Given the description of an element on the screen output the (x, y) to click on. 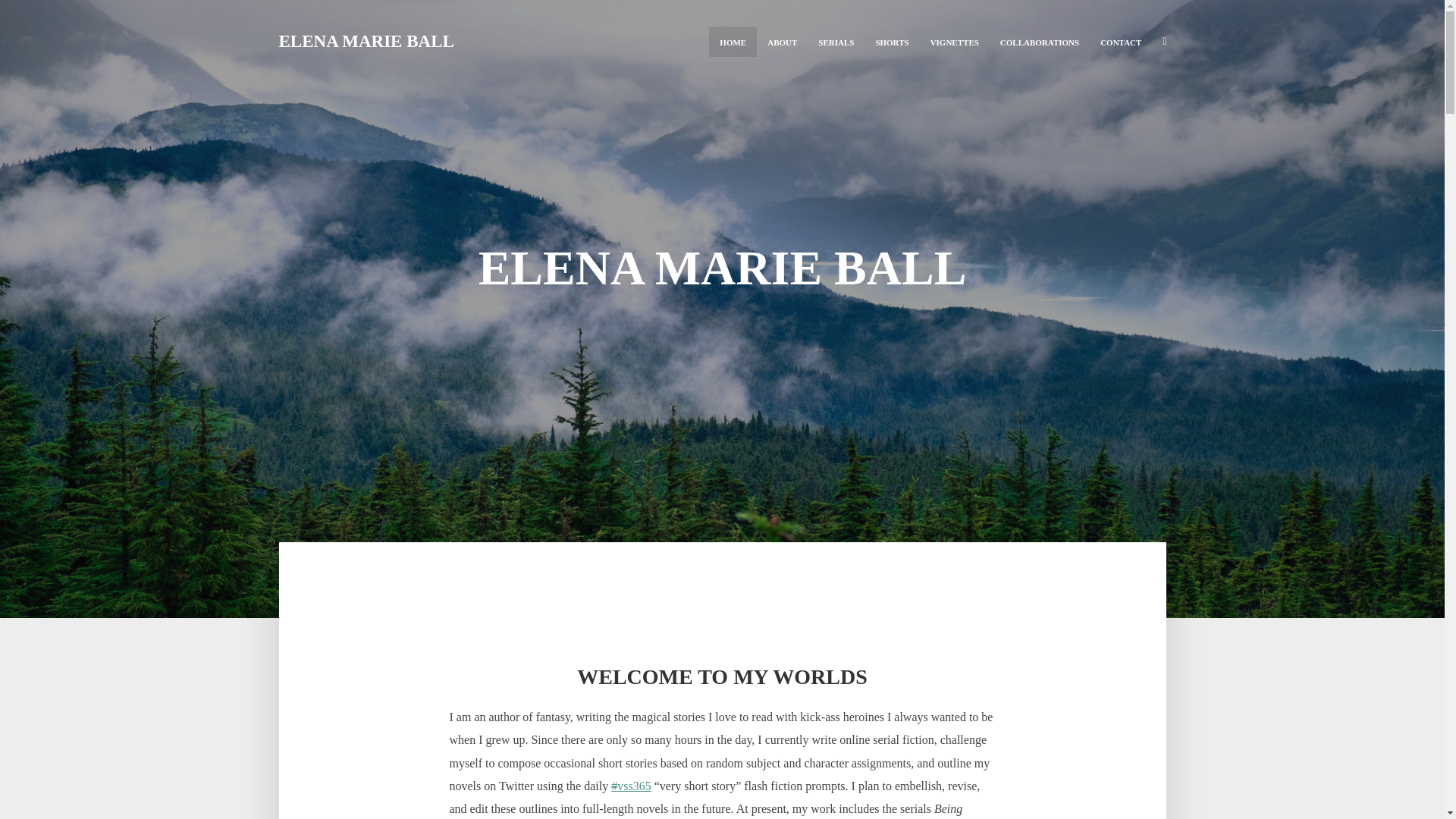
ELENA MARIE BALL (366, 40)
ABOUT (782, 41)
HOME (733, 41)
SHORTS (891, 41)
SERIALS (836, 41)
